Given the description of an element on the screen output the (x, y) to click on. 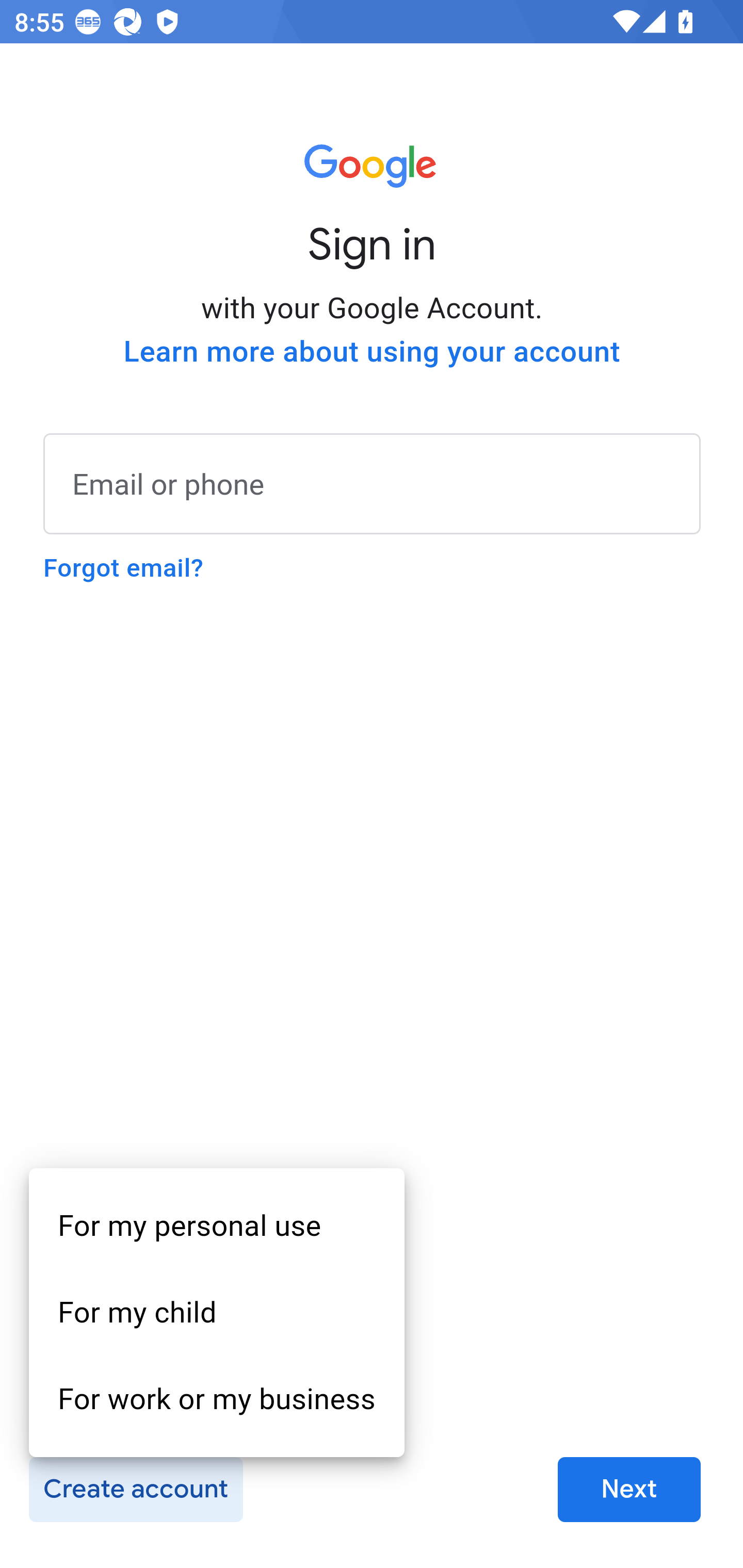
Learn more about using your account (371, 351)
Forgot email? (123, 568)
Create account (134, 1490)
Next (629, 1490)
